Given the description of an element on the screen output the (x, y) to click on. 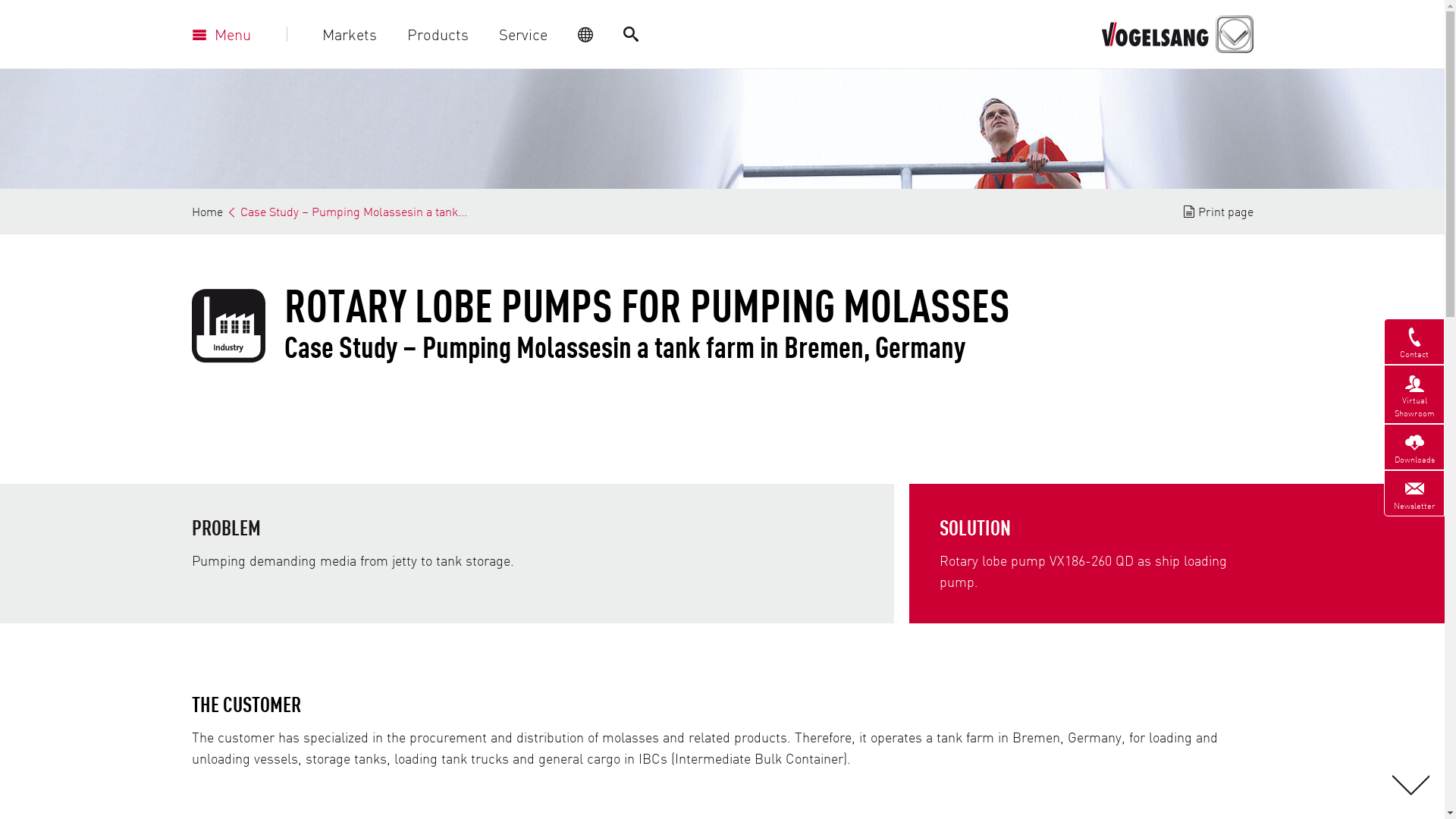
Products (437, 34)
Markets (349, 34)
Products (437, 34)
Markets (349, 34)
